Given the description of an element on the screen output the (x, y) to click on. 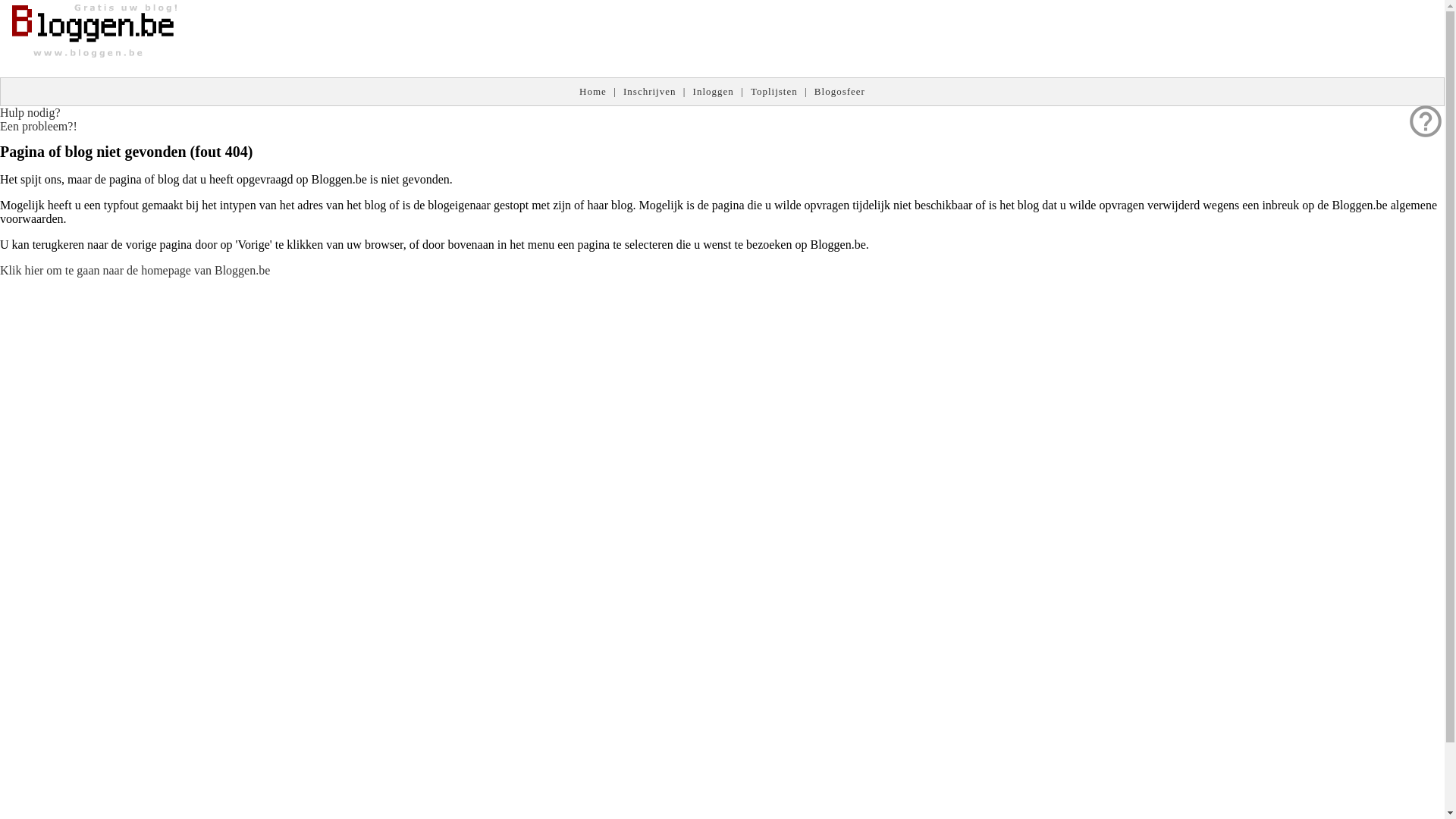
Inloggen Element type: text (713, 91)
Blogosfeer Element type: text (839, 91)
Home Element type: text (592, 91)
Inschrijven Element type: text (649, 91)
Toplijsten Element type: text (773, 91)
help_outline
Hulp nodig?
Een probleem?! Element type: text (38, 119)
Klik hier om te gaan naar de homepage van Bloggen.be Element type: text (134, 269)
